Given the description of an element on the screen output the (x, y) to click on. 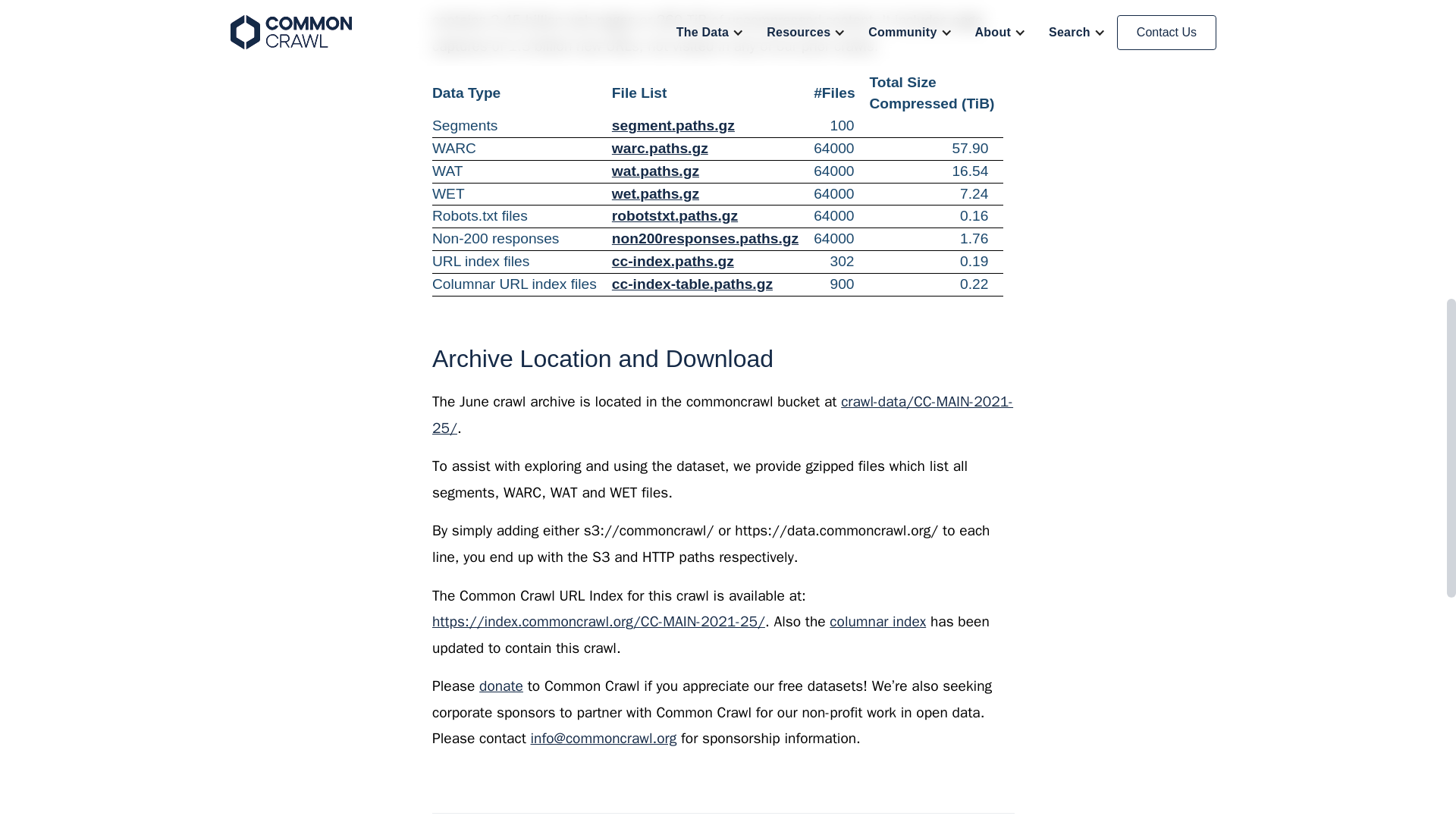
columnar index (877, 621)
segment.paths.gz (673, 125)
cc-index.paths.gz (672, 261)
warc.paths.gz (659, 148)
non200responses.paths.gz (704, 238)
cc-index-table.paths.gz (692, 283)
robotstxt.paths.gz (674, 215)
wat.paths.gz (654, 170)
wet.paths.gz (654, 193)
donate (500, 686)
